Given the description of an element on the screen output the (x, y) to click on. 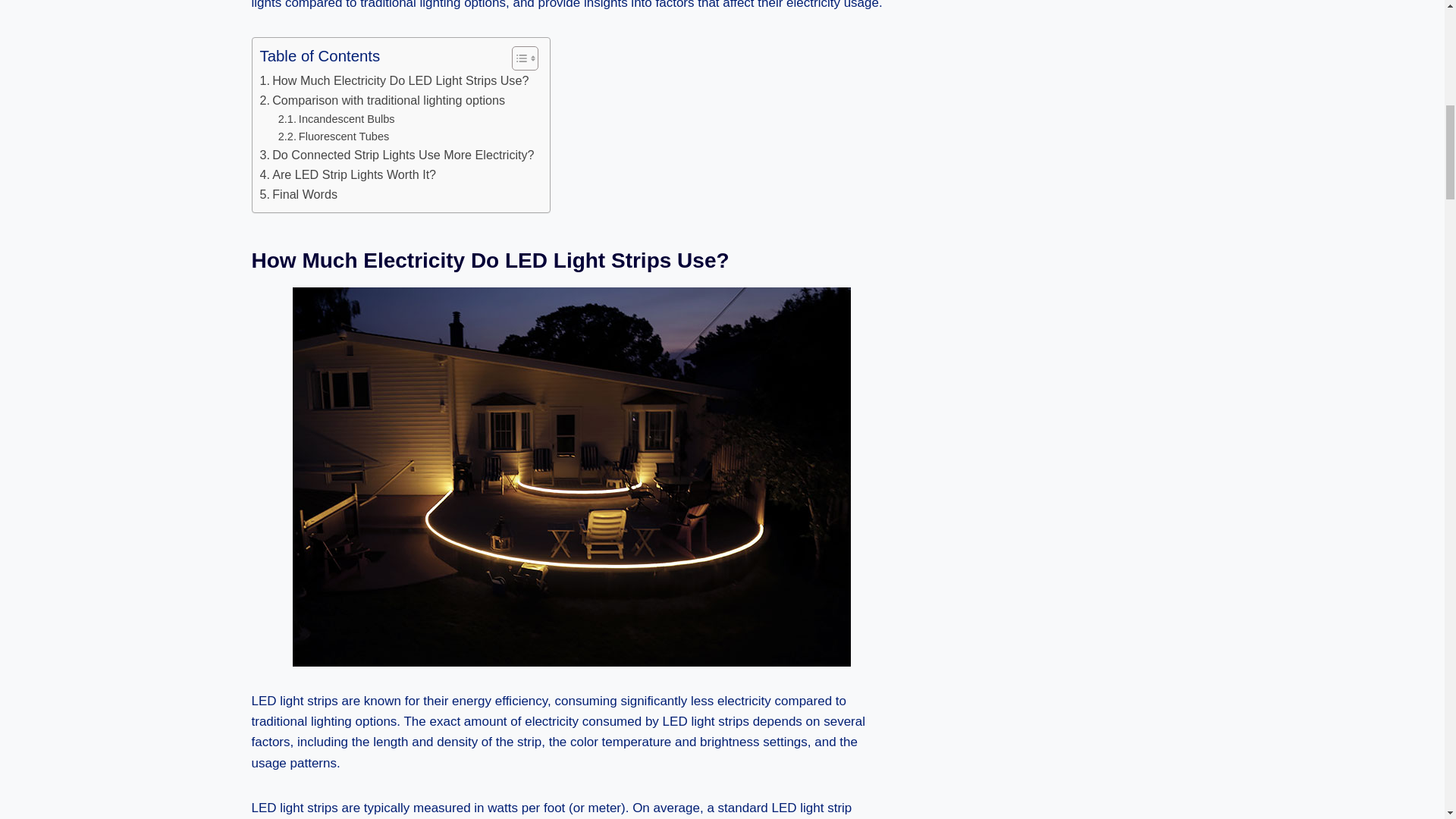
How Much Electricity Do LED Light Strips Use? (393, 80)
Fluorescent Tubes (334, 136)
Fluorescent Tubes (334, 136)
How Much Electricity Do LED Light Strips Use? (393, 80)
Incandescent Bulbs (336, 118)
Final Words (298, 194)
Do Connected Strip Lights Use More Electricity? (396, 155)
Are LED Strip Lights Worth It? (347, 175)
Comparison with traditional lighting options (382, 100)
Do Connected Strip Lights Use More Electricity? (396, 155)
